Given the description of an element on the screen output the (x, y) to click on. 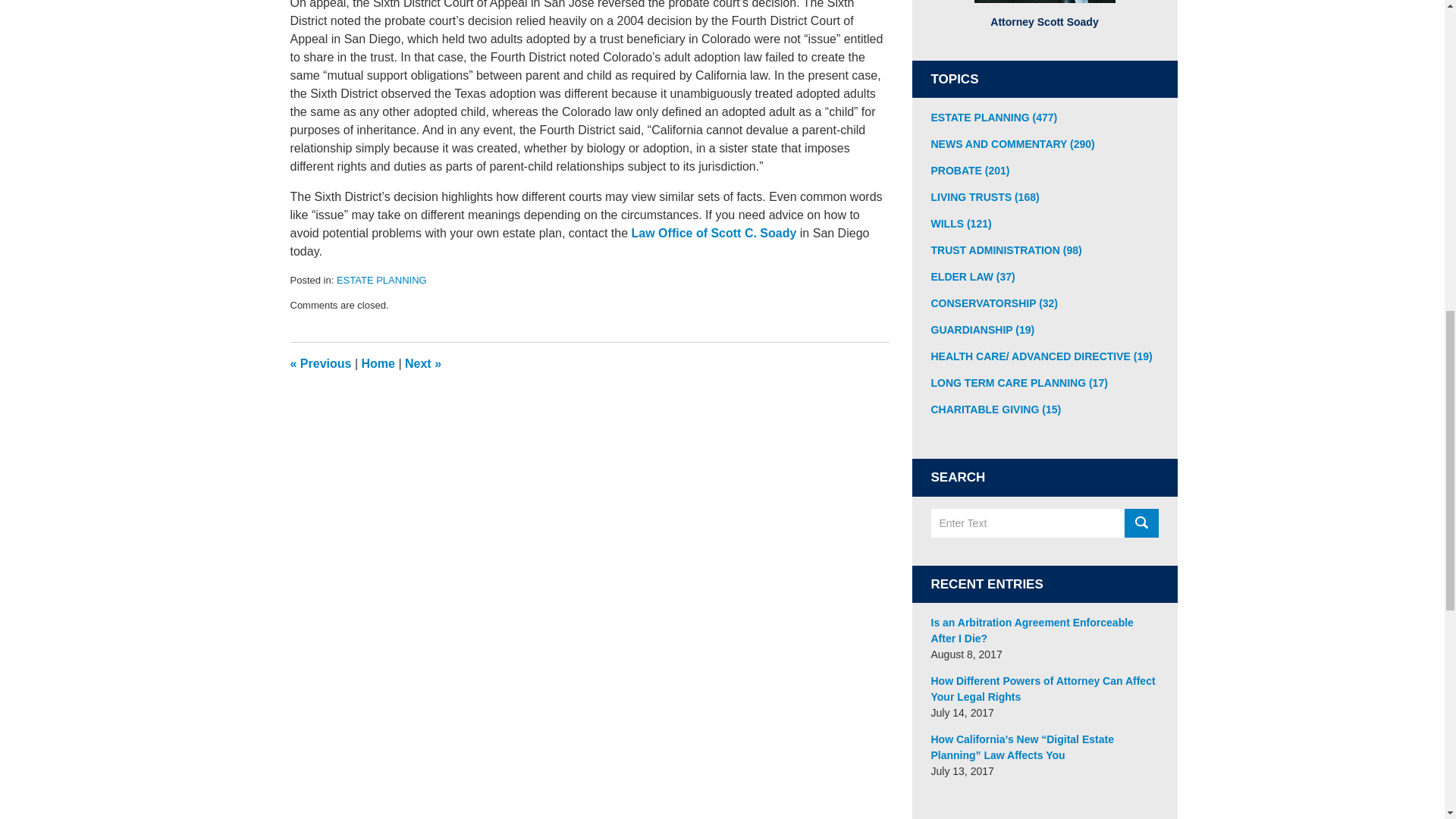
Law Office of Scott C. Soady (713, 232)
Home (377, 363)
View all posts in ESTATE PLANNING (381, 279)
ESTATE PLANNING (381, 279)
How Multiple Trusts May Complicate an Estate Plan (422, 363)
